Given the description of an element on the screen output the (x, y) to click on. 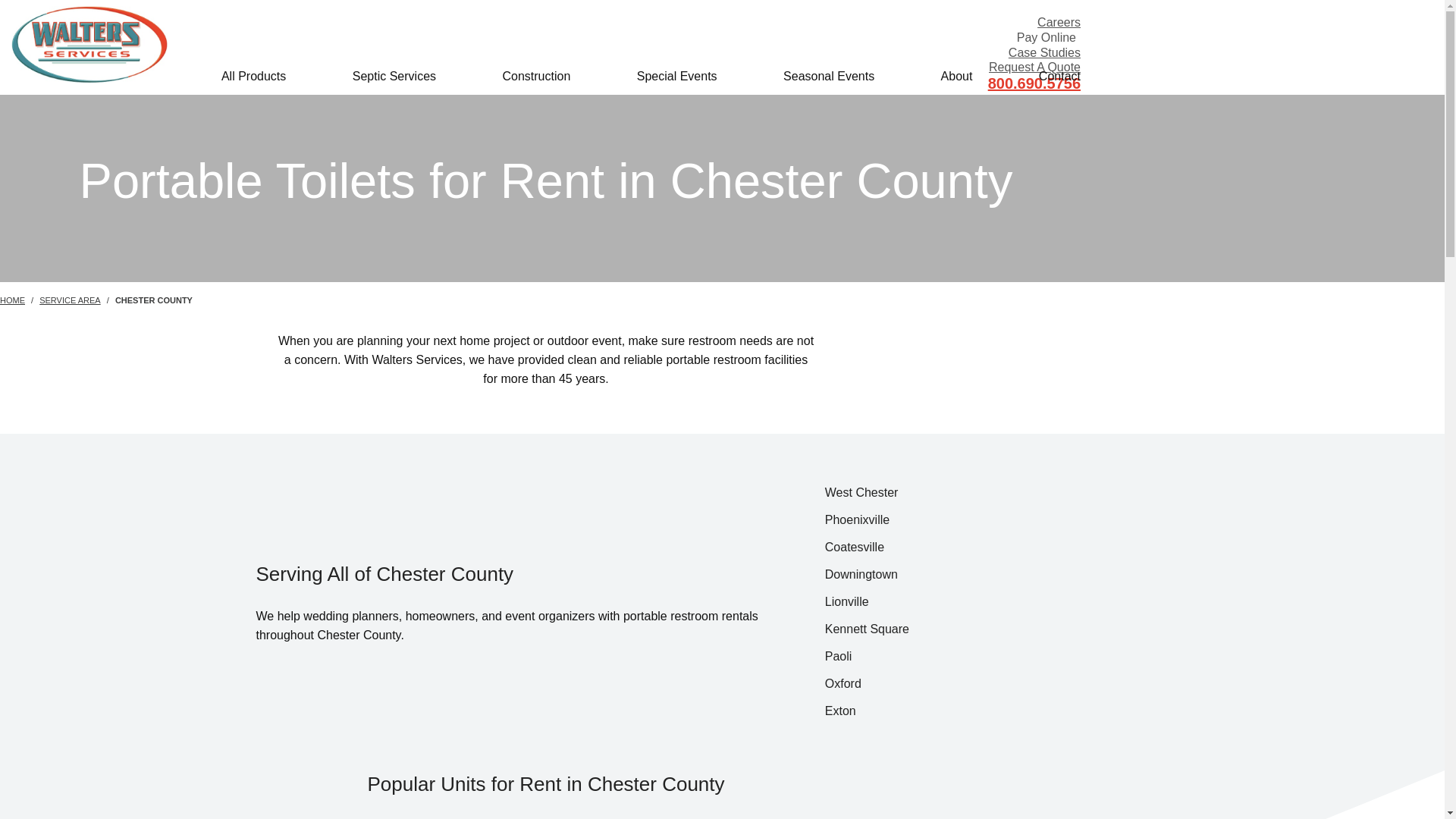
Pay Online (1045, 37)
All Products (253, 75)
Careers (1058, 21)
Septic Services (393, 75)
Contact (1059, 75)
Special Events (677, 75)
Case Studies (1044, 51)
Construction (536, 75)
Request A Quote (1034, 66)
About (956, 75)
